Given the description of an element on the screen output the (x, y) to click on. 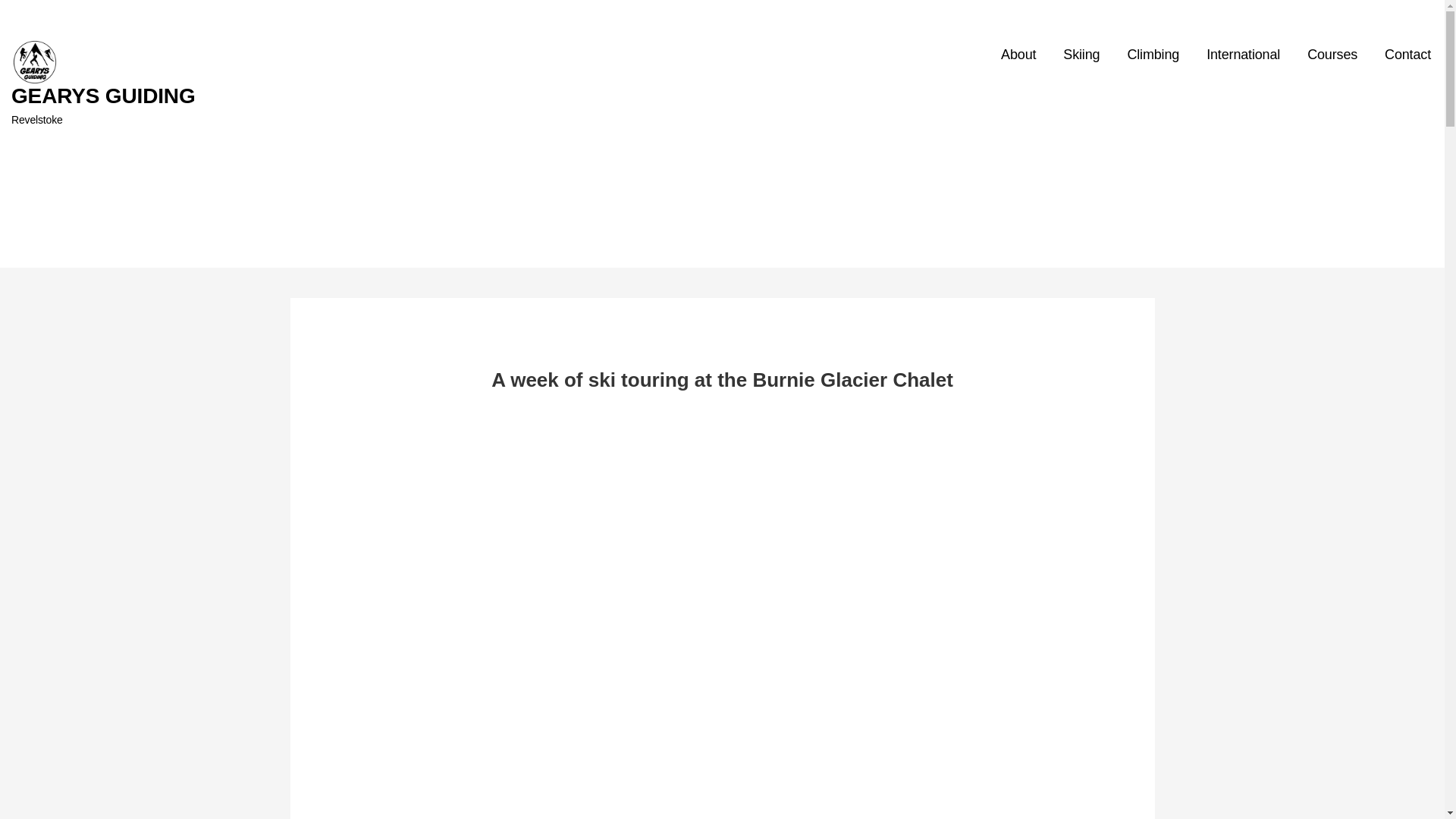
Climbing (1152, 55)
About (1018, 55)
International (1243, 55)
Courses (1331, 55)
Skiing (1080, 55)
